Given the description of an element on the screen output the (x, y) to click on. 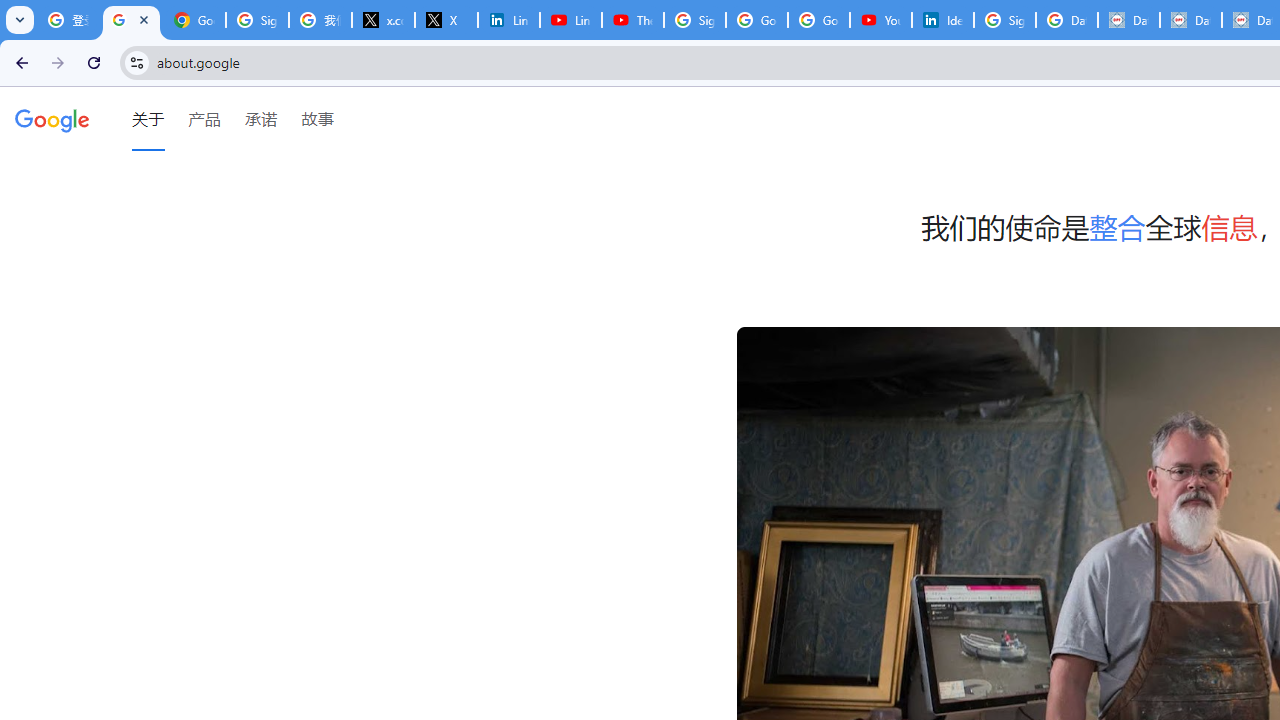
Identity verification via Persona | LinkedIn Help (942, 20)
Sign in - Google Accounts (1004, 20)
